Given the description of an element on the screen output the (x, y) to click on. 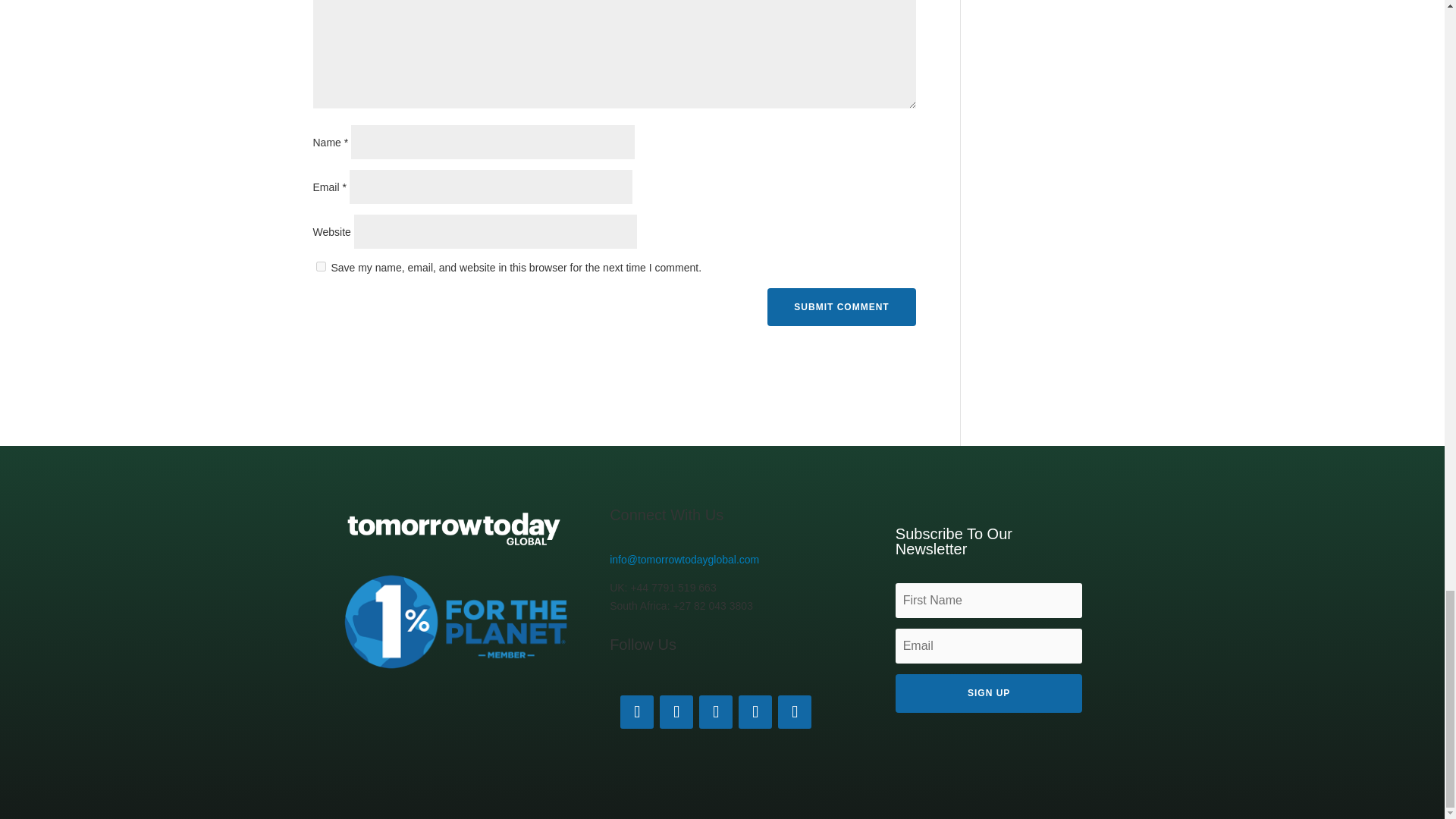
Follow on Facebook (676, 711)
Submit Comment (841, 306)
Submit Comment (841, 306)
Follow on Instagram (754, 711)
Follow on LinkedIn (636, 711)
yes (319, 266)
Follow on Twitter (793, 711)
Logotype-footer (454, 529)
Follow on Youtube (715, 711)
